Given the description of an element on the screen output the (x, y) to click on. 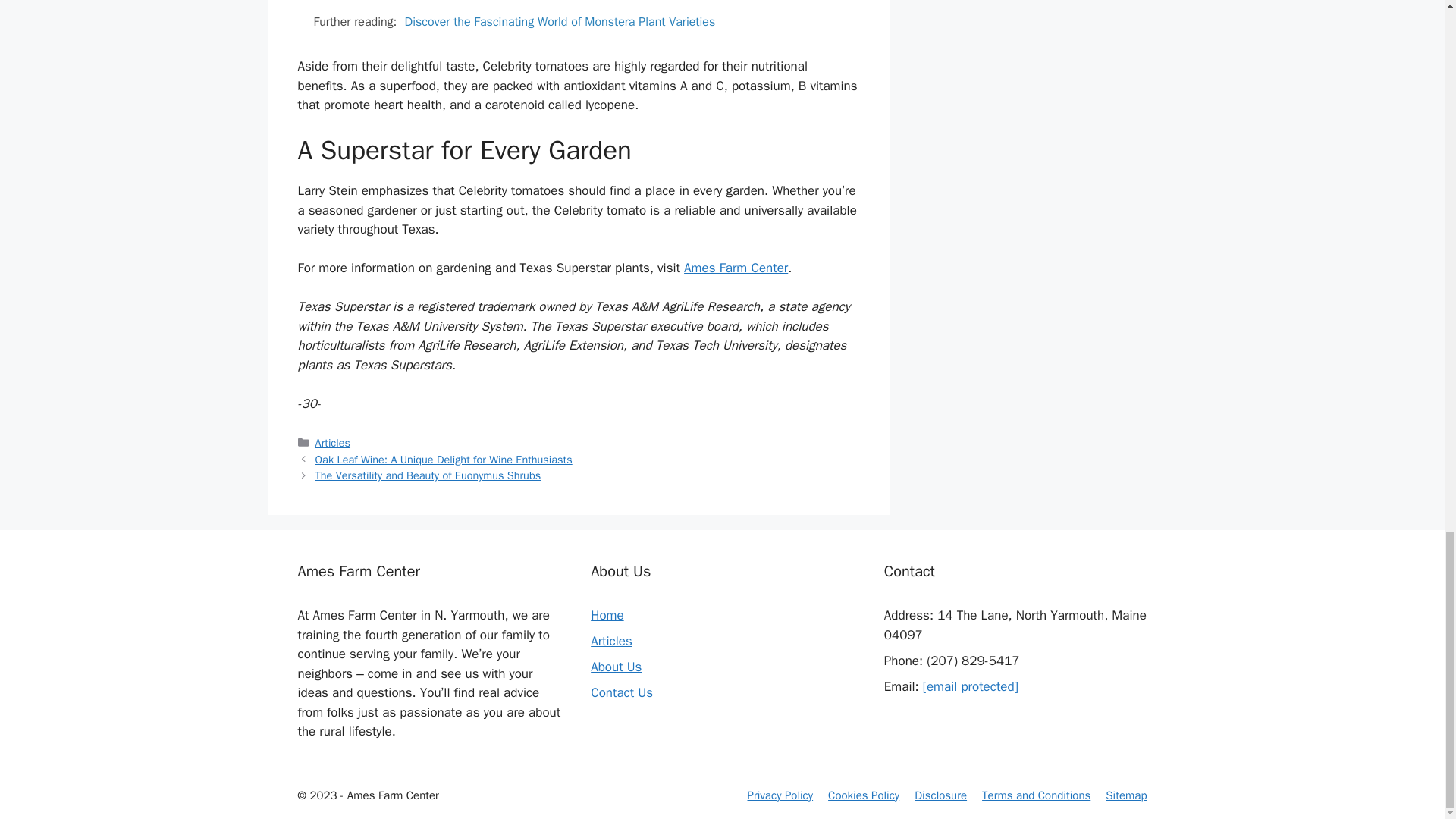
Disclosure (940, 795)
Home (607, 615)
The Versatility and Beauty of Euonymus Shrubs (428, 475)
Contact Us (621, 692)
Sitemap (1126, 795)
About Us (616, 666)
Cookies Policy (863, 795)
Oak Leaf Wine: A Unique Delight for Wine Enthusiasts (443, 459)
Terms and Conditions (1035, 795)
